Given the description of an element on the screen output the (x, y) to click on. 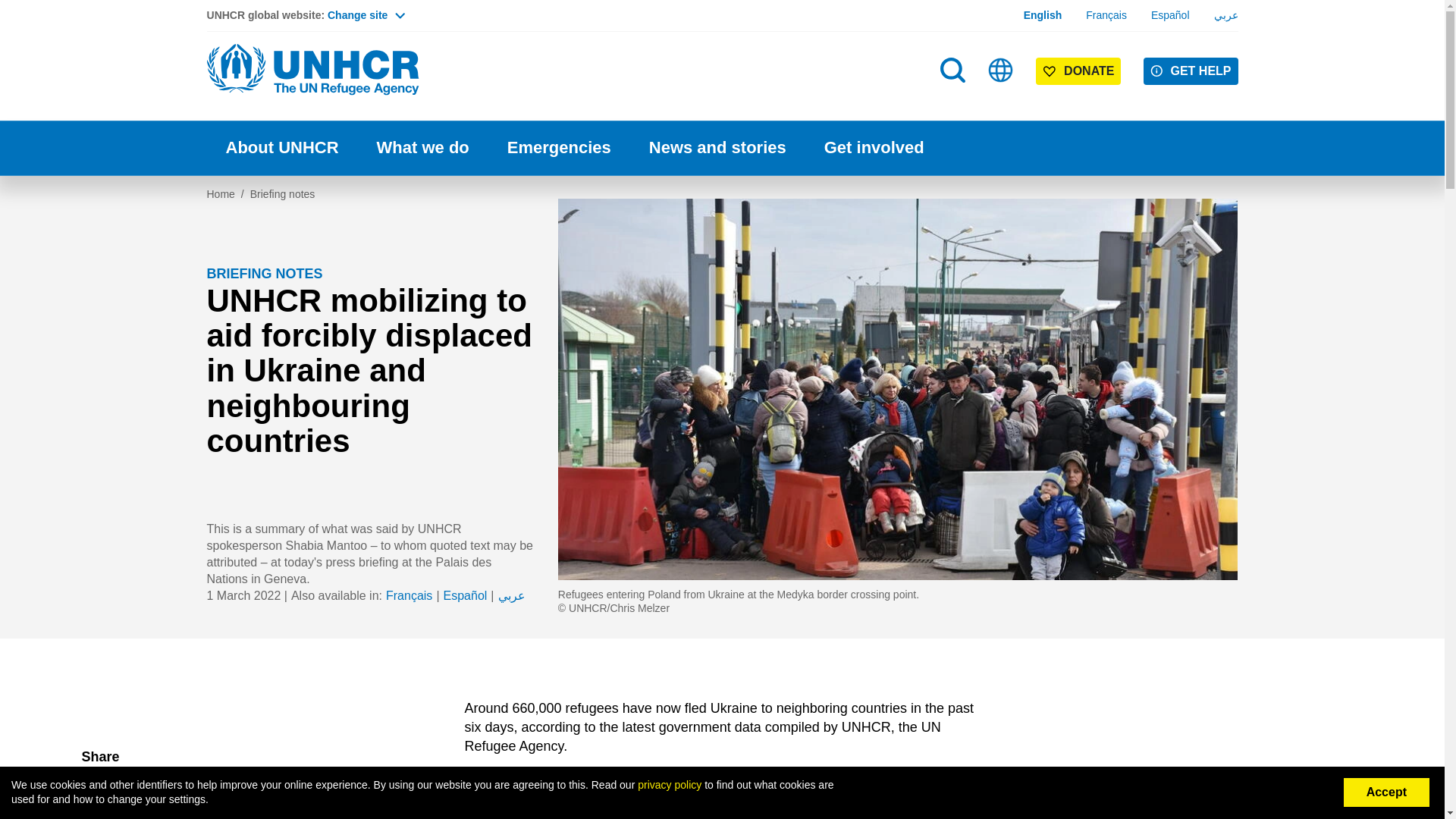
Skip to main content (721, 1)
About UNHCR (281, 148)
Home (312, 69)
English (1042, 15)
DONATE (1078, 71)
Search (952, 69)
Search (954, 99)
GET HELP (1189, 71)
Change site (365, 15)
Sites (1000, 69)
